Given the description of an element on the screen output the (x, y) to click on. 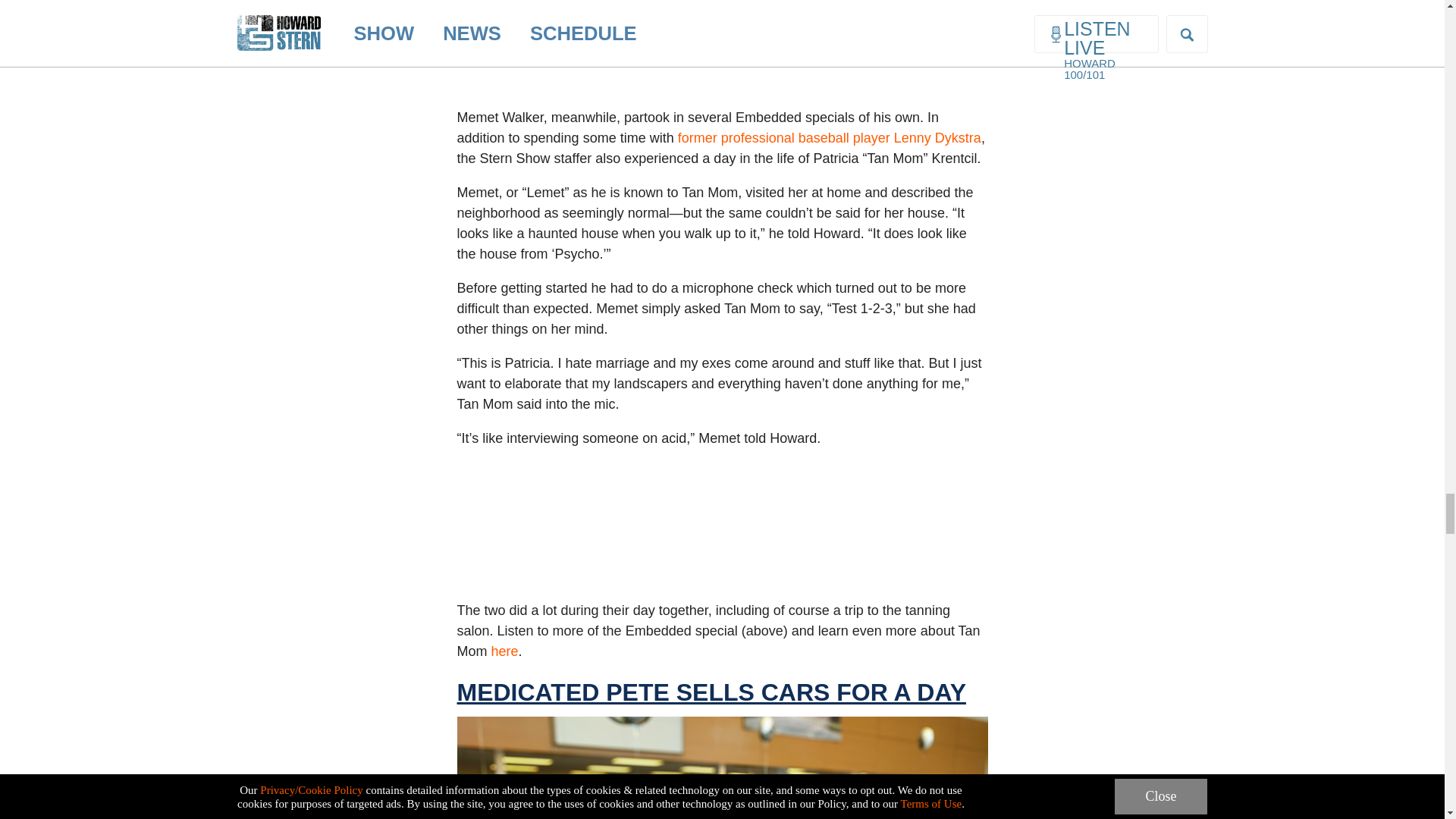
here (505, 651)
former professional baseball player Lenny Dykstra (829, 137)
